Given the description of an element on the screen output the (x, y) to click on. 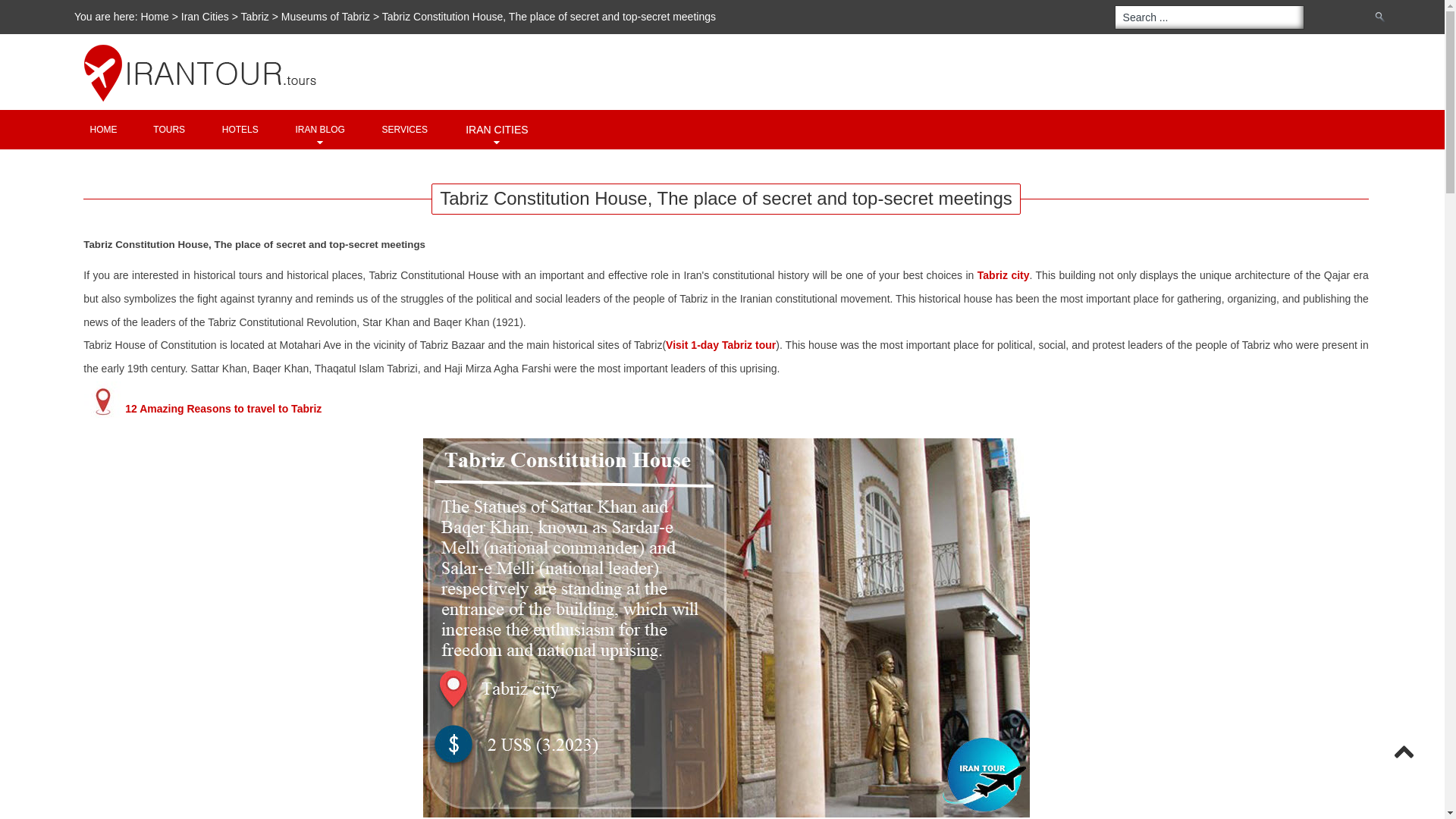
SERVICES (404, 129)
IRAN CITIES (496, 129)
Home (103, 129)
Home (154, 16)
TOURS (168, 129)
HOME (103, 129)
HOTELS (239, 129)
Search ... (1209, 16)
12 Amazing Reasons to travel to Tabriz (223, 408)
IRAN BLOG (320, 129)
Museums of Tabriz (325, 16)
Visit 1-day Tabriz tour (720, 345)
Tabriz (255, 16)
Tours (168, 129)
